Given the description of an element on the screen output the (x, y) to click on. 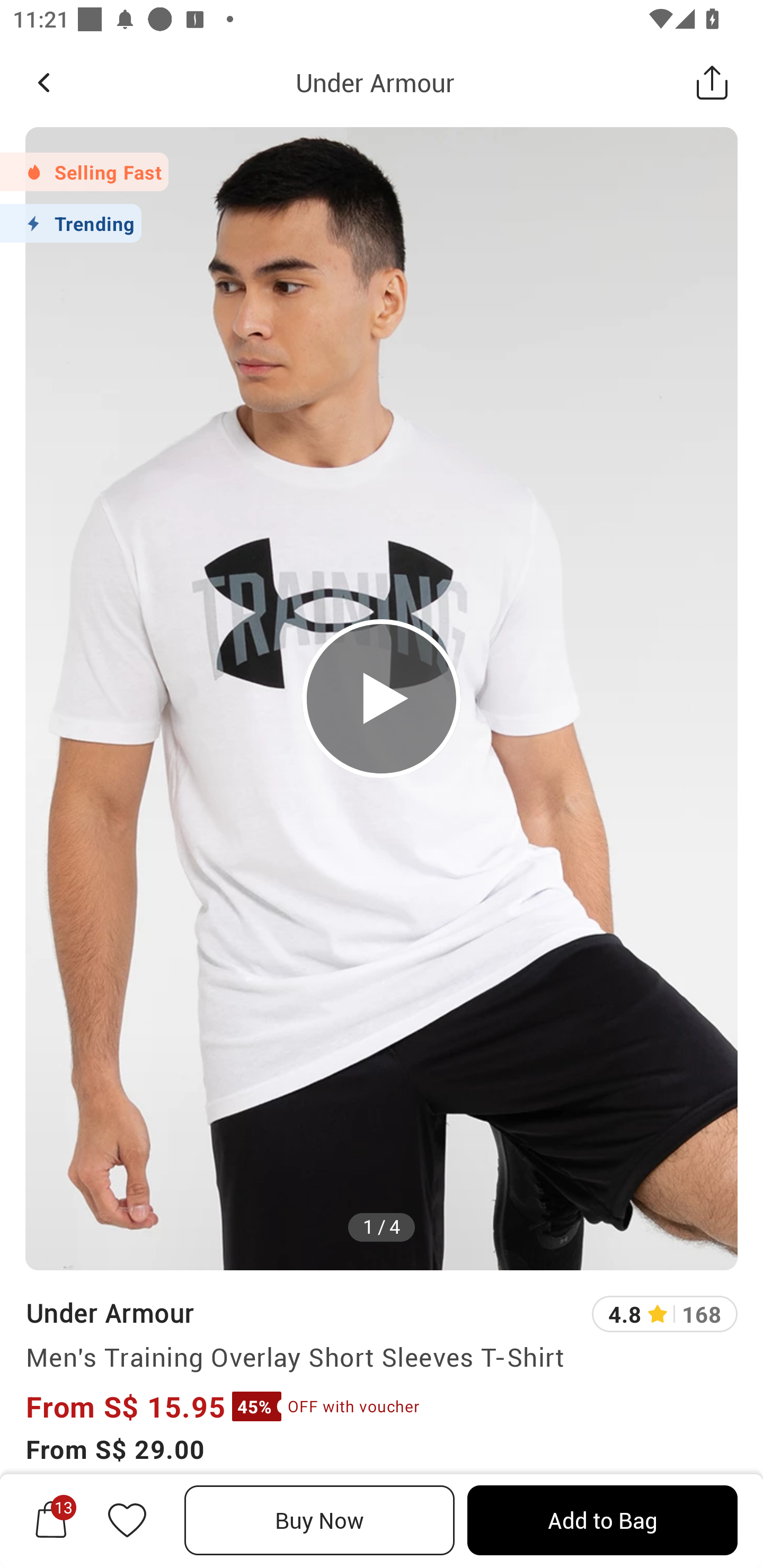
Under Armour (375, 82)
Share this Product (711, 82)
Under Armour (109, 1312)
4.8 168 (664, 1313)
Buy Now (319, 1519)
Add to Bag (601, 1519)
13 (50, 1520)
